Given the description of an element on the screen output the (x, y) to click on. 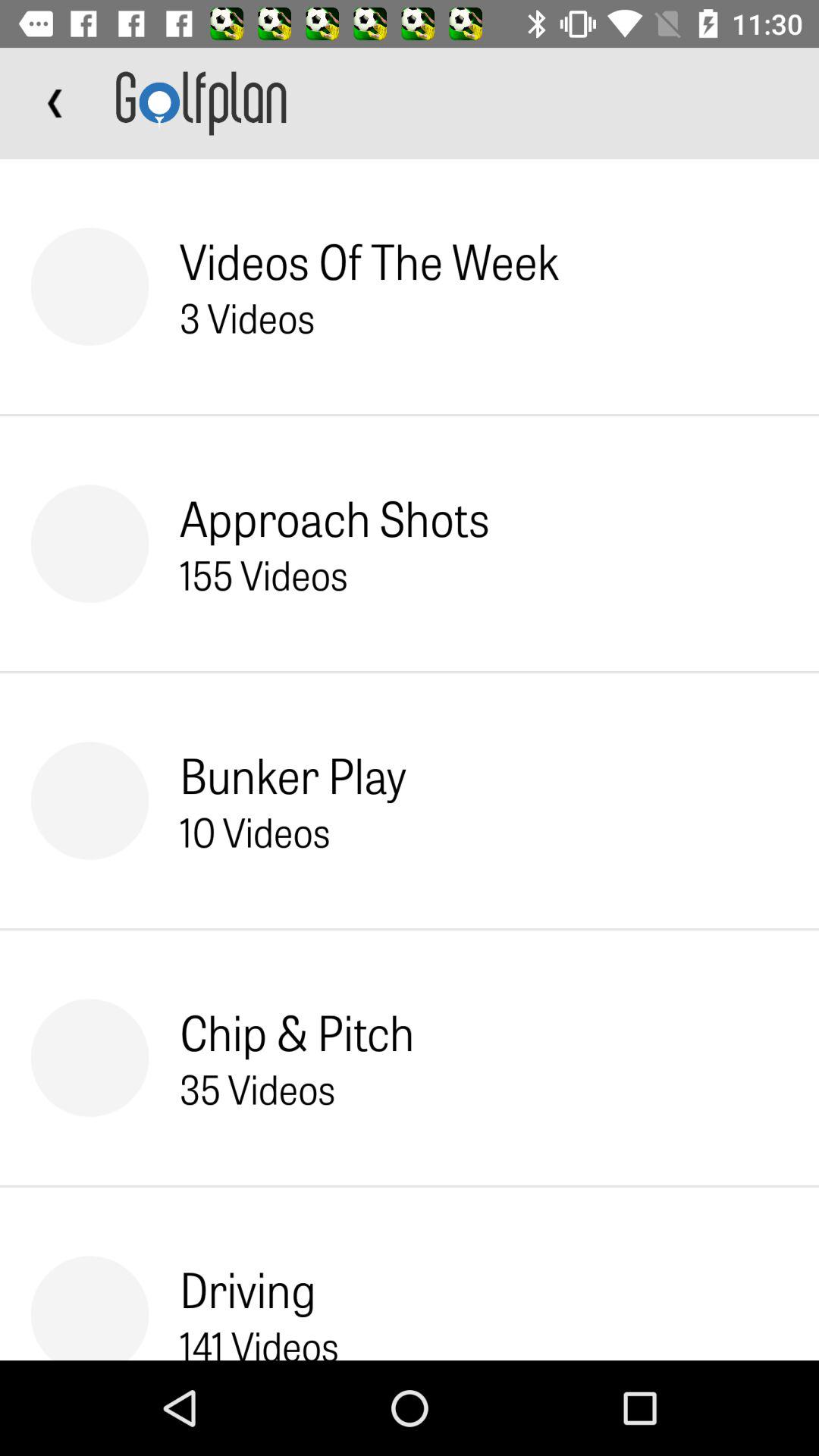
launch the item below the driving item (258, 1340)
